Given the description of an element on the screen output the (x, y) to click on. 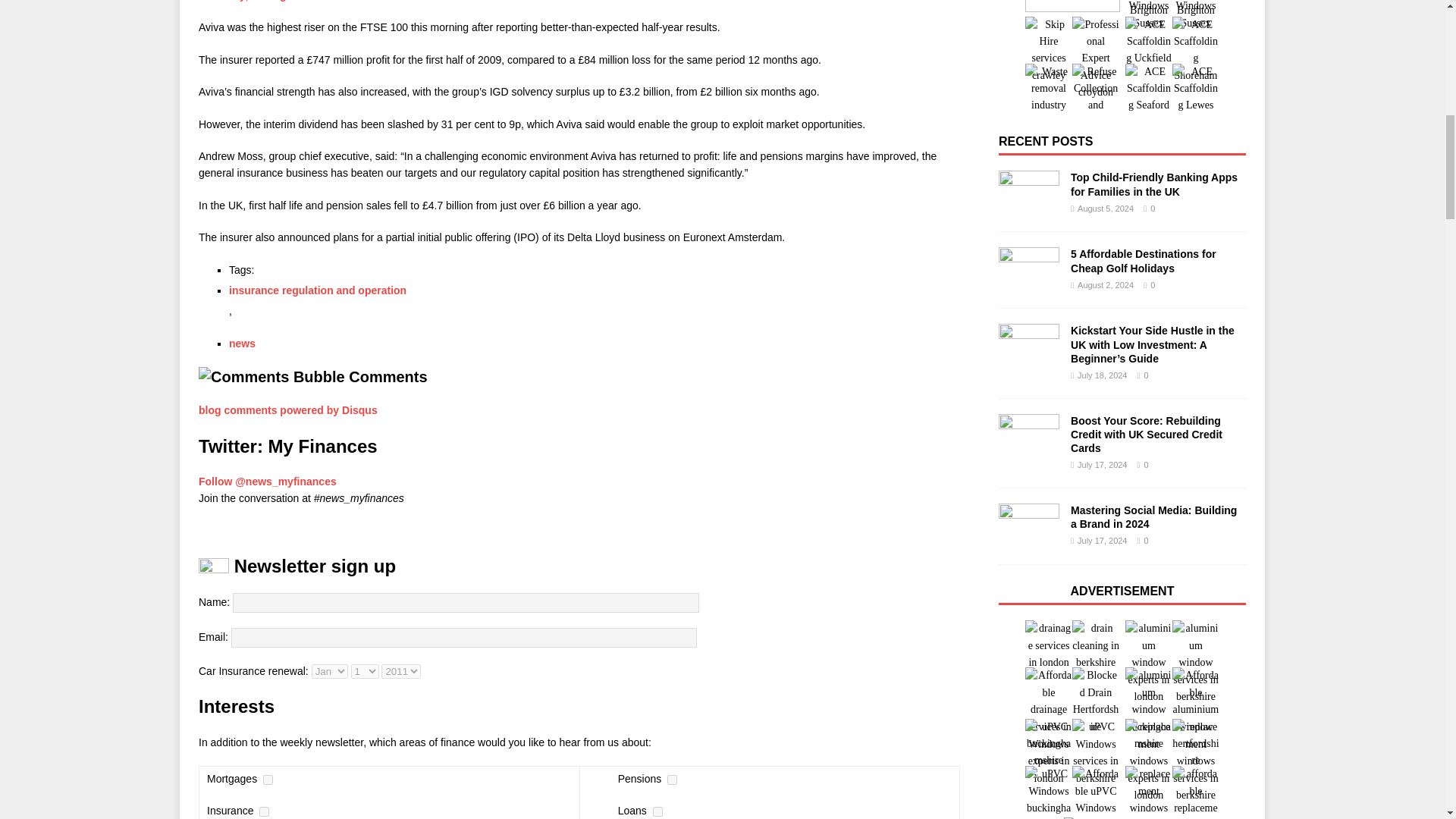
5 Affordable Destinations for Cheap Golf Holidays (1142, 260)
blog comments powered by Disqus (287, 410)
news (242, 343)
Top Child-Friendly Banking Apps for Families in the UK (1028, 193)
518083 (657, 811)
518079 (264, 811)
Top Child-Friendly Banking Apps for Families in the UK (1153, 184)
518082 (671, 779)
518078 (268, 779)
